Given the description of an element on the screen output the (x, y) to click on. 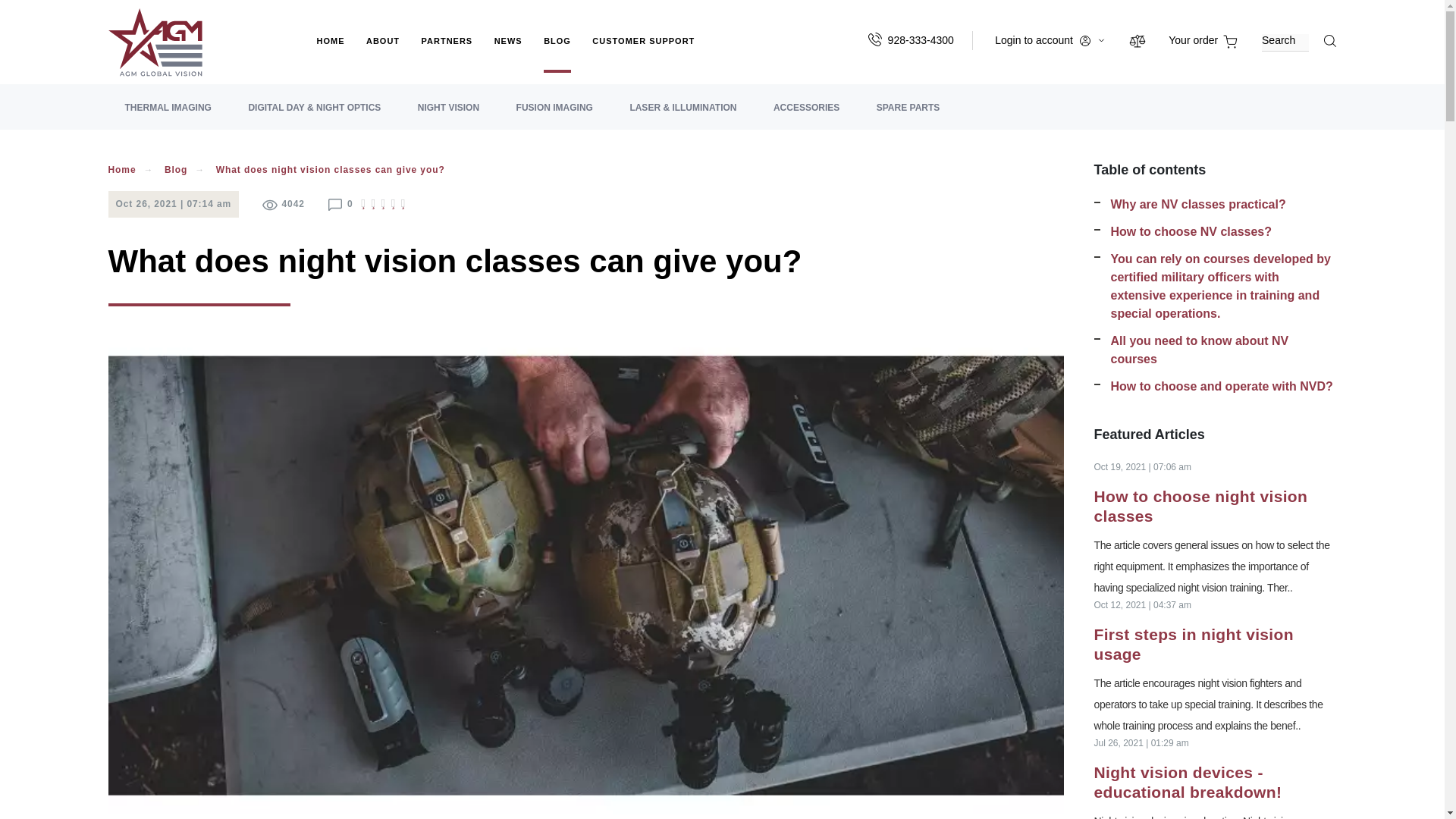
928-333-4300 (920, 39)
Your order (1204, 39)
CUSTOMER SUPPORT (643, 54)
FUSION IMAGING (554, 115)
ABOUT (382, 54)
NIGHT VISION (448, 115)
PARTNERS (447, 54)
THERMAL IMAGING (167, 115)
ACCESSORIES (806, 115)
